Given the description of an element on the screen output the (x, y) to click on. 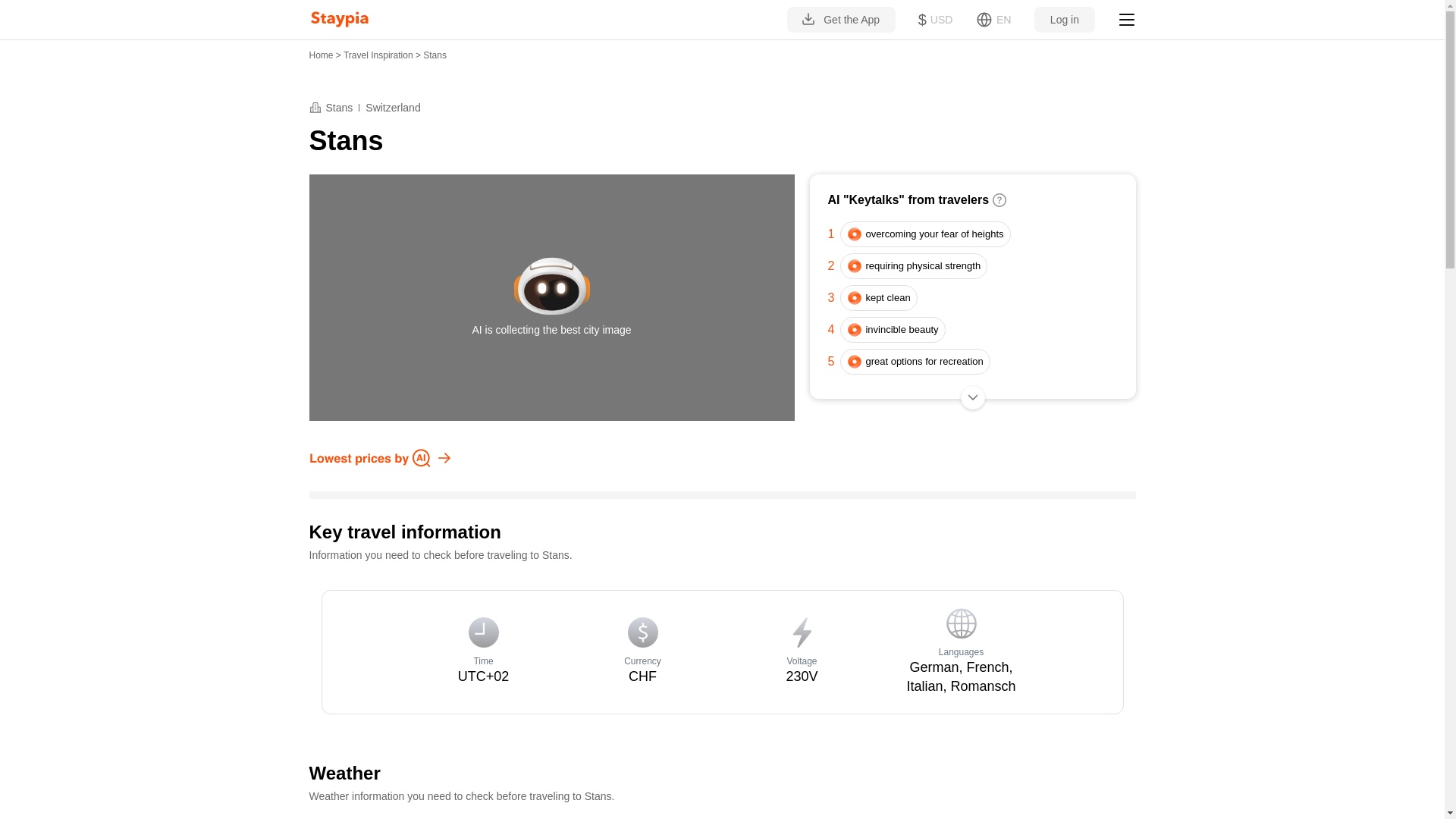
Log in (1063, 19)
Get the App (841, 19)
